Given the description of an element on the screen output the (x, y) to click on. 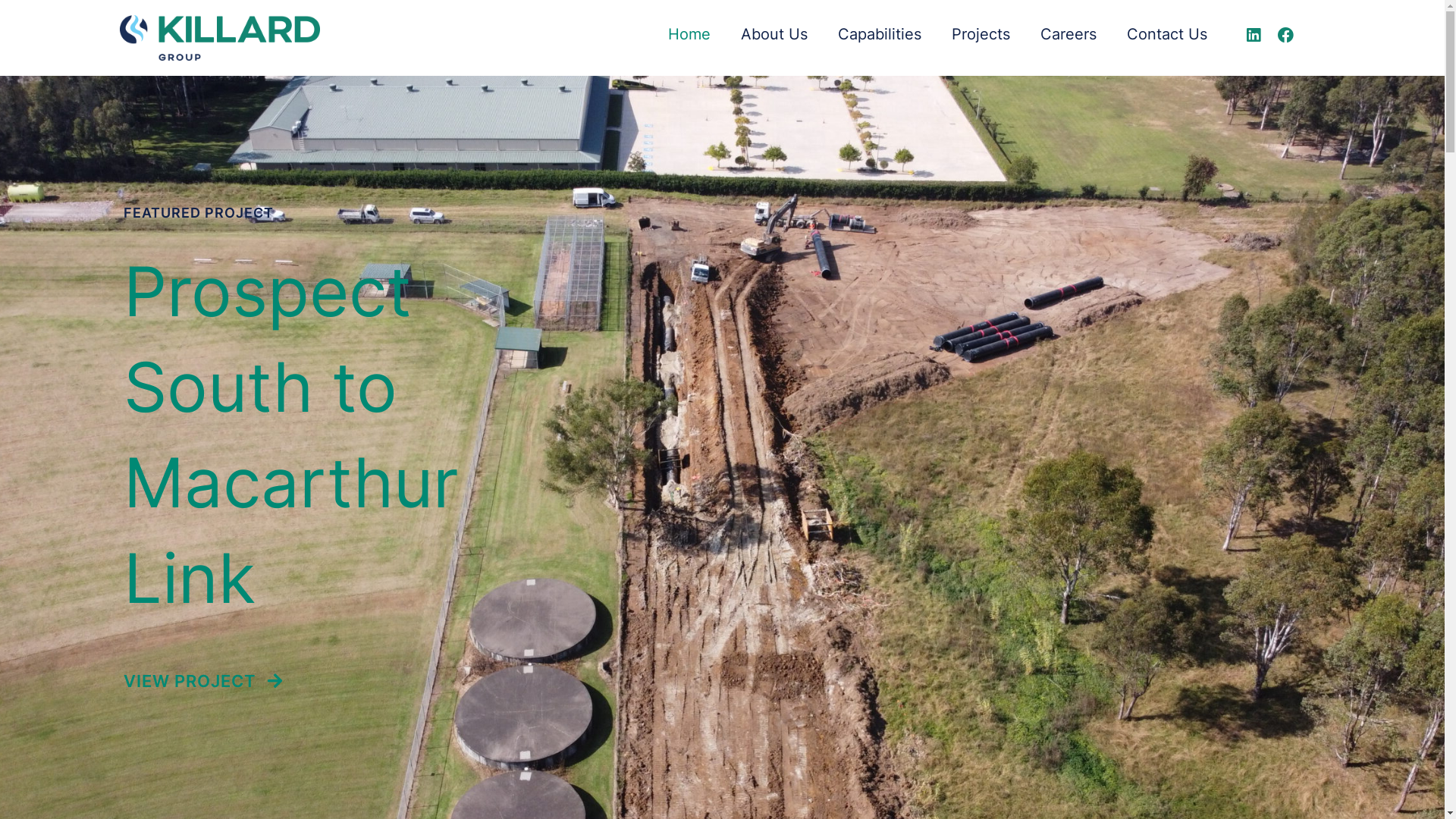
Contact Us Element type: text (1166, 33)
Facebook Element type: text (1285, 35)
Home Element type: text (688, 33)
Capabilities Element type: text (879, 33)
Linkedin Element type: text (1253, 35)
Careers Element type: text (1068, 33)
Projects Element type: text (980, 33)
About Us Element type: text (773, 33)
VIEW PROJECT Element type: text (202, 680)
